Given the description of an element on the screen output the (x, y) to click on. 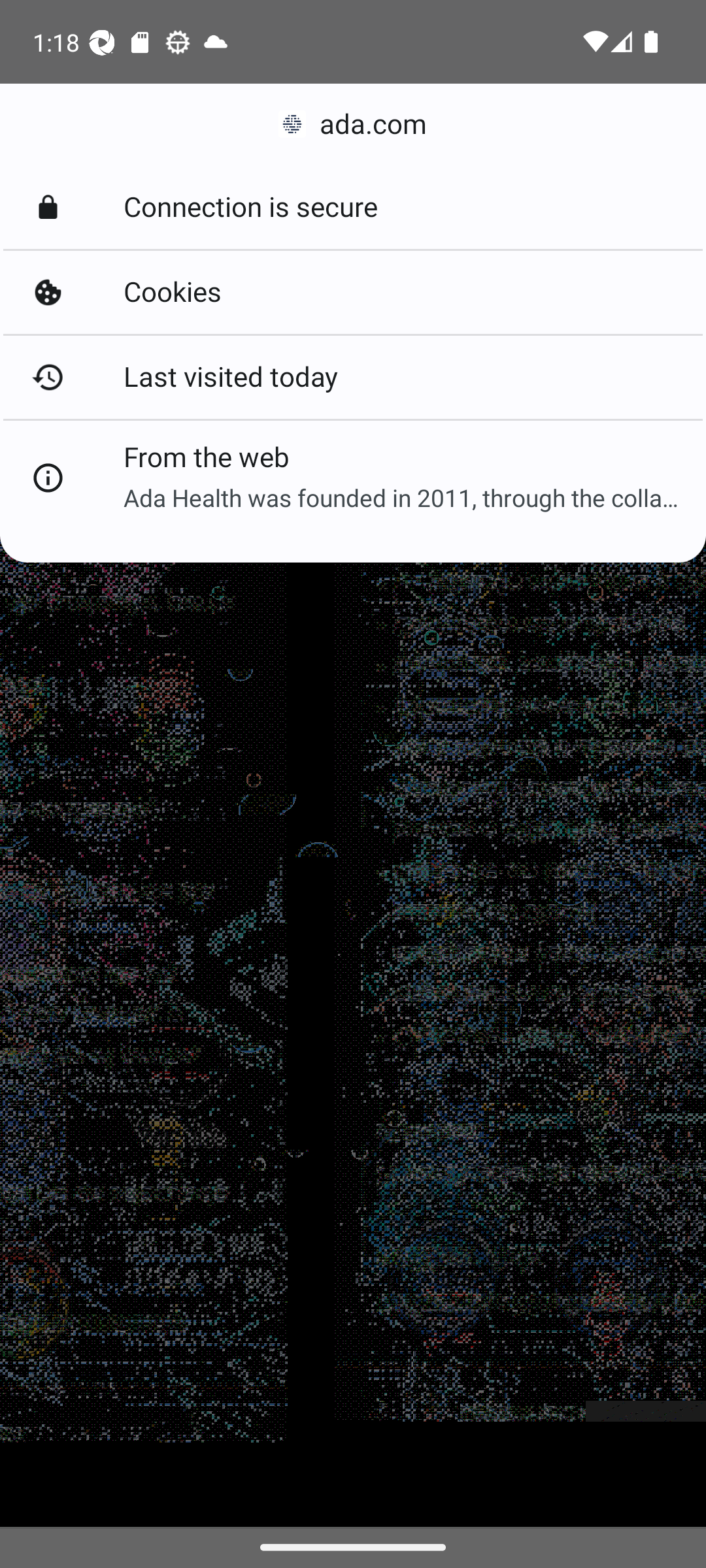
ada.com (353, 124)
Connection is secure (353, 207)
Cookies (353, 291)
Last visited today (353, 376)
